Given the description of an element on the screen output the (x, y) to click on. 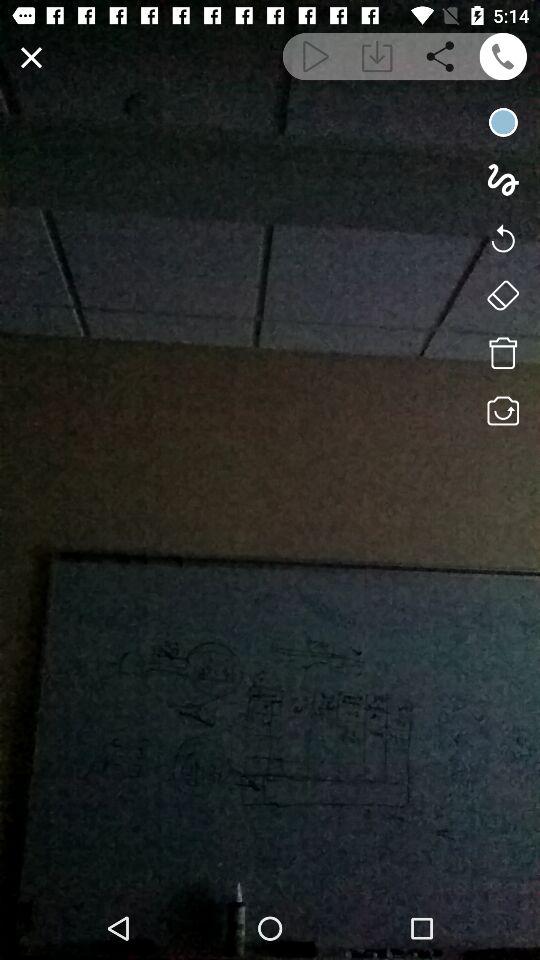
start recording (502, 122)
